Given the description of an element on the screen output the (x, y) to click on. 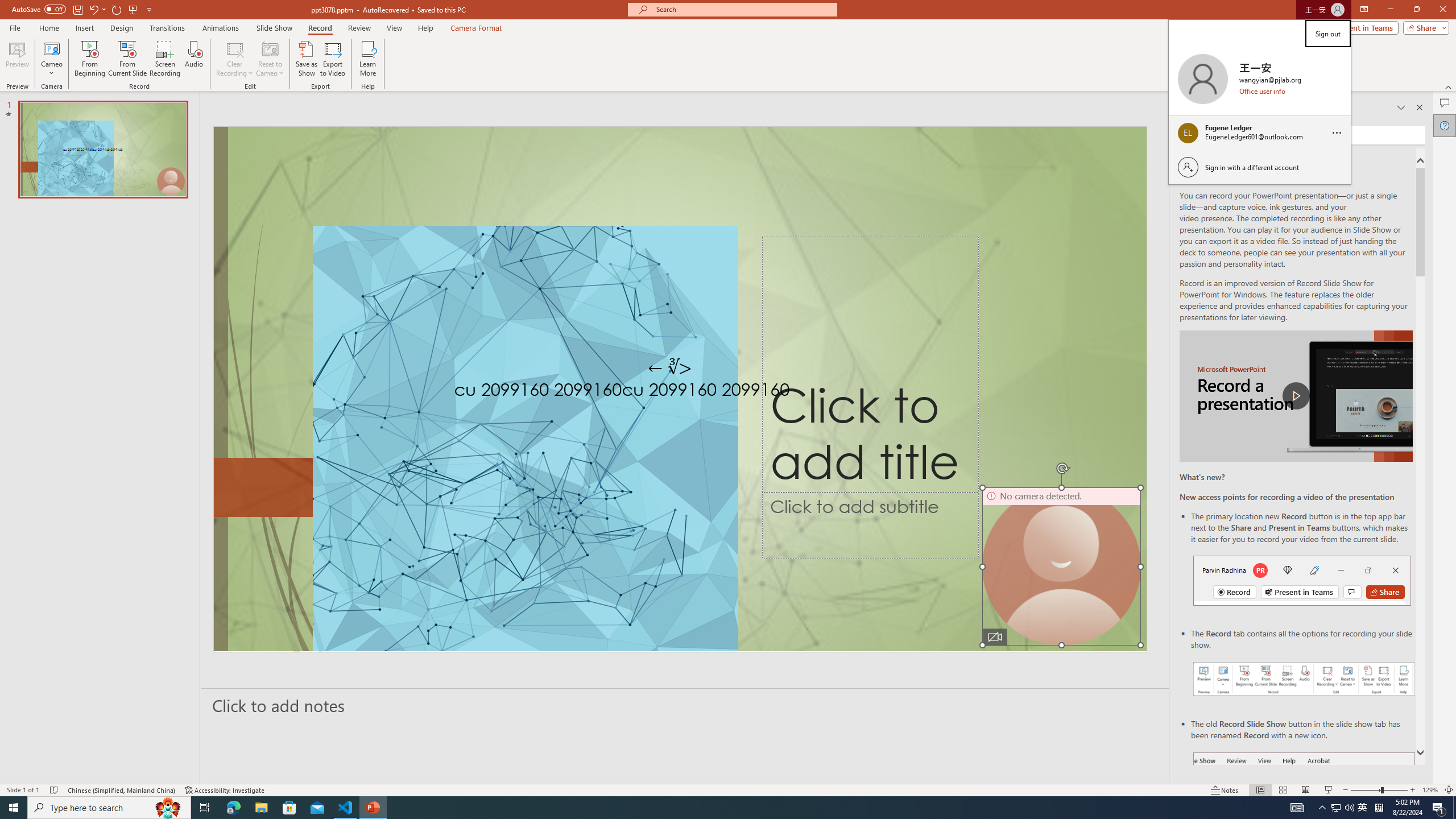
TextBox 61 (678, 391)
Reset to Cameo (269, 58)
